Given the description of an element on the screen output the (x, y) to click on. 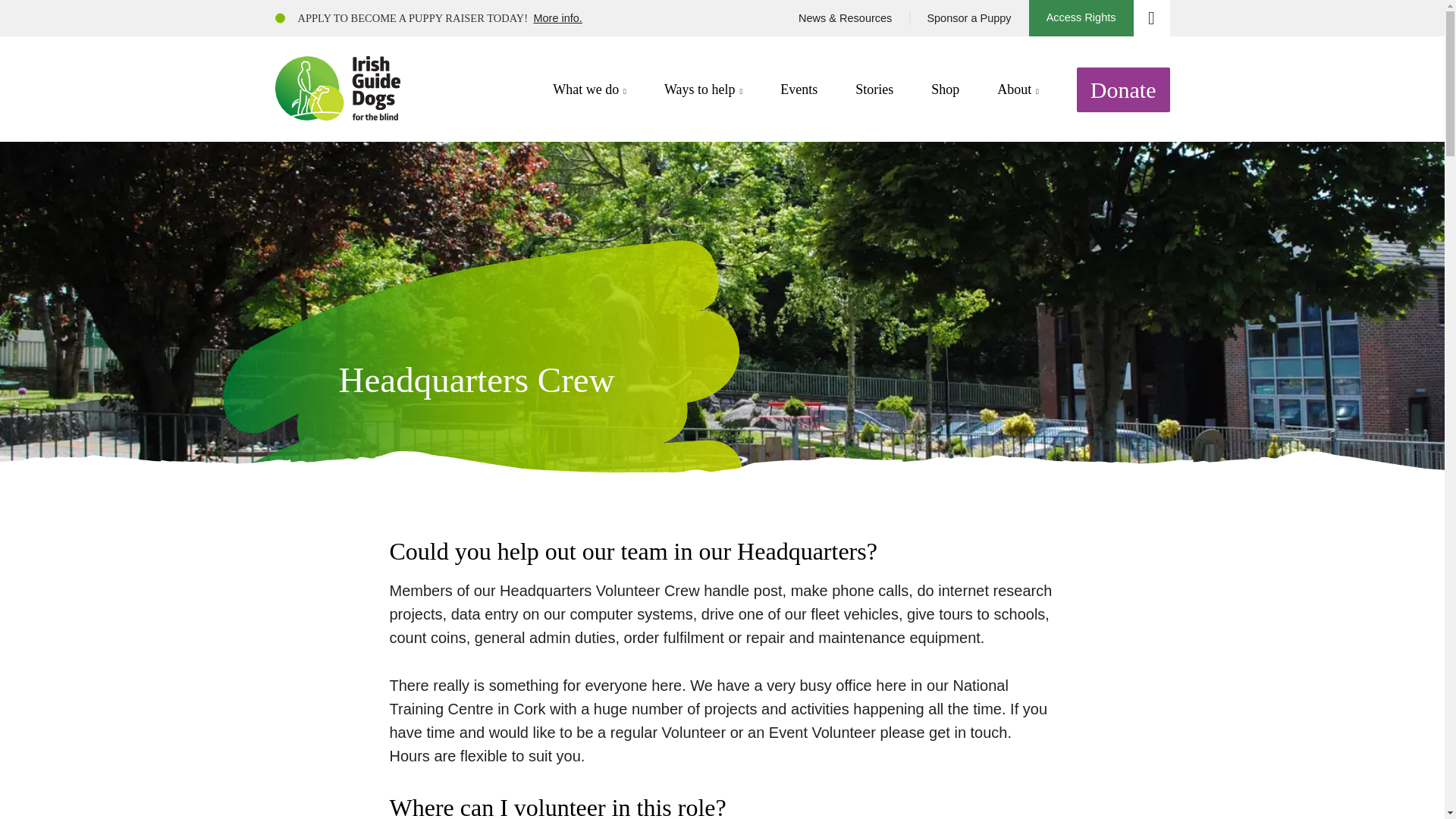
Events (798, 89)
Stories (874, 89)
Donate (1123, 88)
Access Rights (1081, 18)
Shop (945, 89)
More info. (556, 18)
Sponsor a Puppy (968, 18)
